Given the description of an element on the screen output the (x, y) to click on. 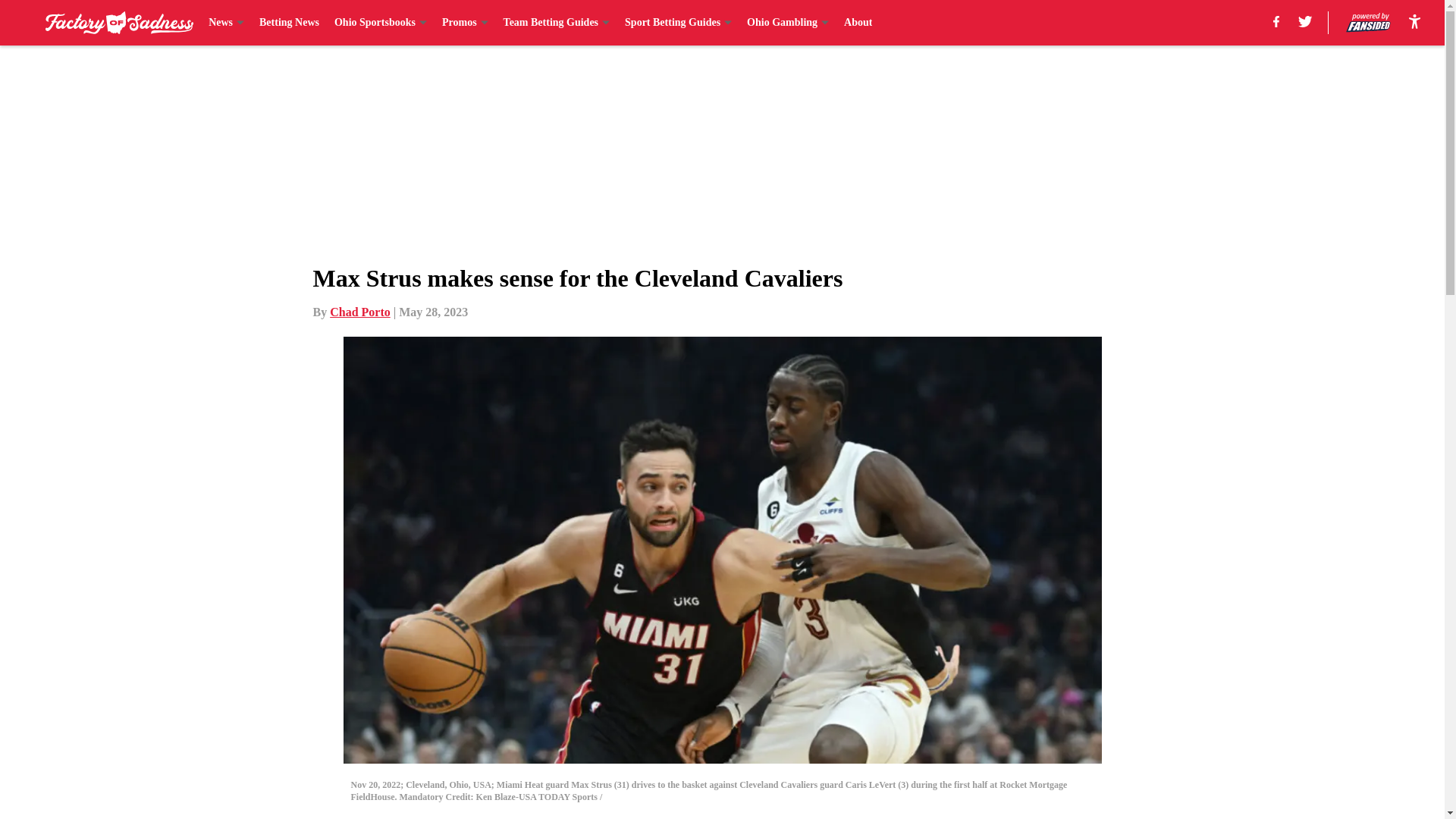
Chad Porto (360, 311)
Betting News (288, 22)
About (858, 22)
